Given the description of an element on the screen output the (x, y) to click on. 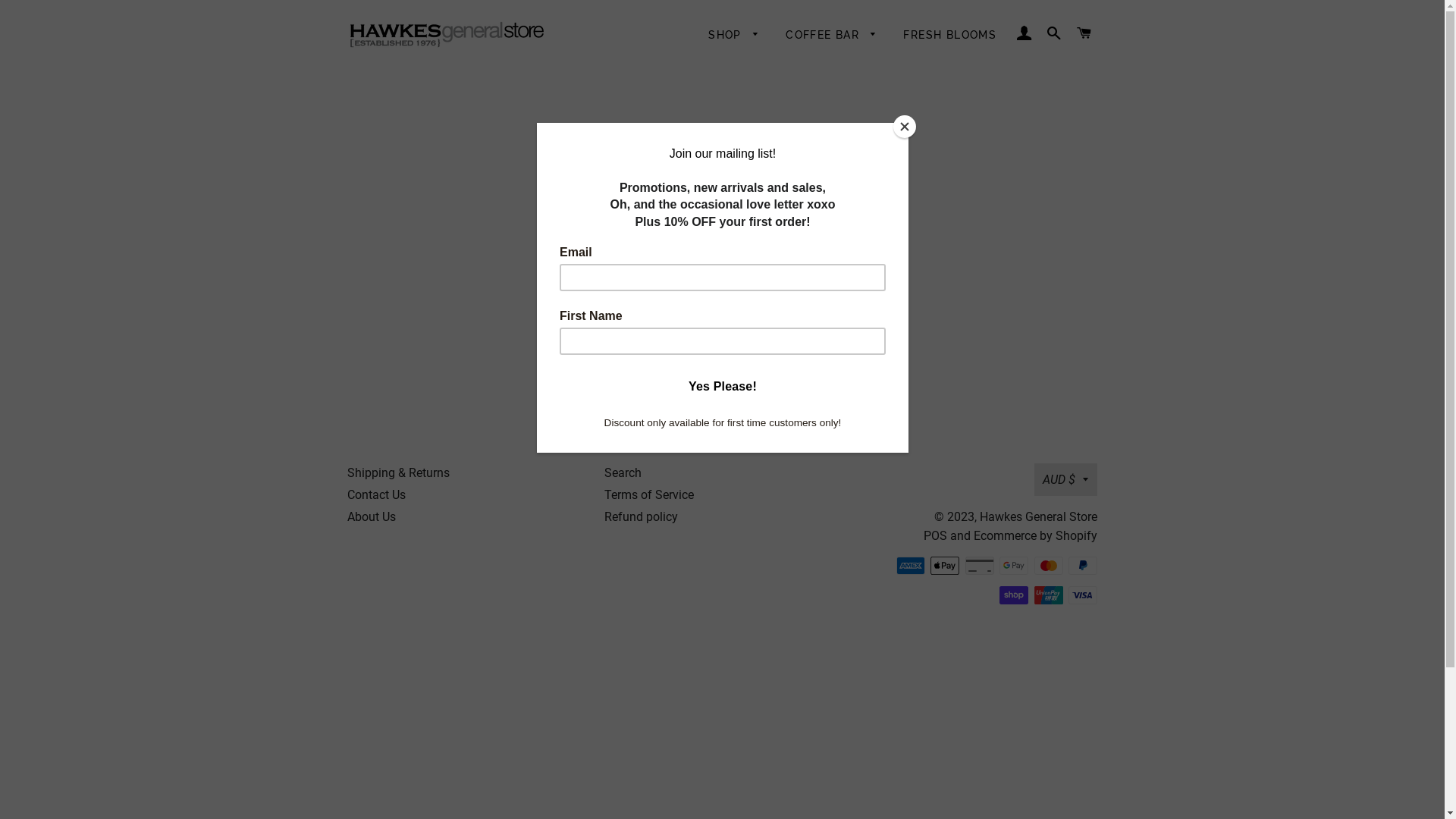
POS Element type: text (935, 535)
FRESH BLOOMS Element type: text (949, 35)
Refund policy Element type: text (640, 516)
Search Element type: text (622, 472)
Shipping & Returns Element type: text (398, 472)
CART Element type: text (1083, 33)
Ecommerce by Shopify Element type: text (1035, 535)
Hawkes General Store Element type: text (1038, 516)
Click here Element type: text (736, 259)
About Us Element type: text (371, 516)
SEARCH Element type: text (1054, 33)
LOG IN Element type: text (1023, 33)
AUD $ Element type: text (1065, 479)
Terms of Service Element type: text (648, 494)
COFFEE BAR Element type: text (831, 35)
SHOP Element type: text (733, 35)
Contact Us Element type: text (376, 494)
